Given the description of an element on the screen output the (x, y) to click on. 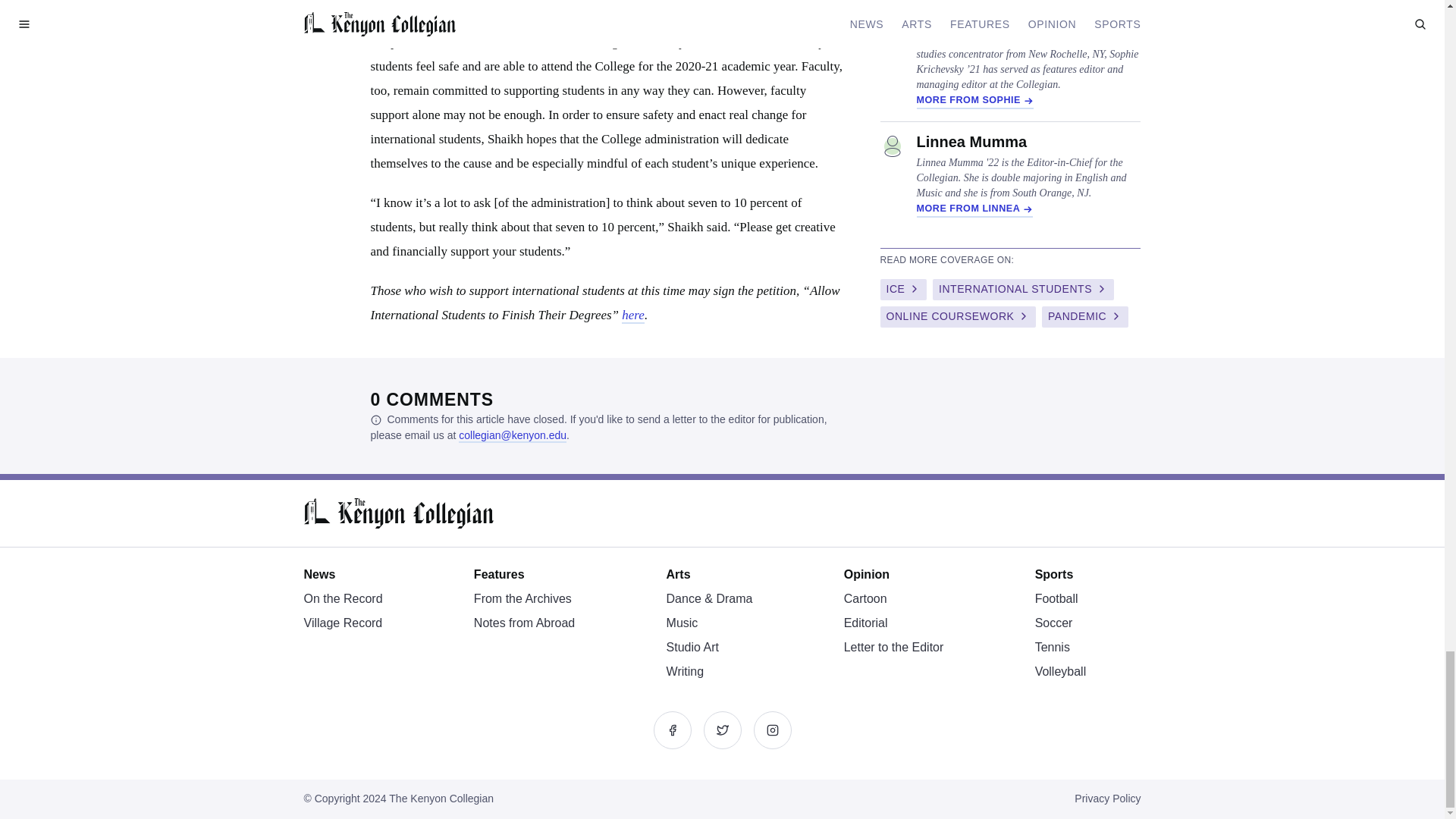
PANDEMIC (1085, 316)
here (633, 315)
ONLINE COURSEWORK (957, 316)
INTERNATIONAL STUDENTS (1023, 289)
MORE FROM LINNEA (973, 209)
MORE FROM SOPHIE (973, 101)
ICE (902, 289)
